Given the description of an element on the screen output the (x, y) to click on. 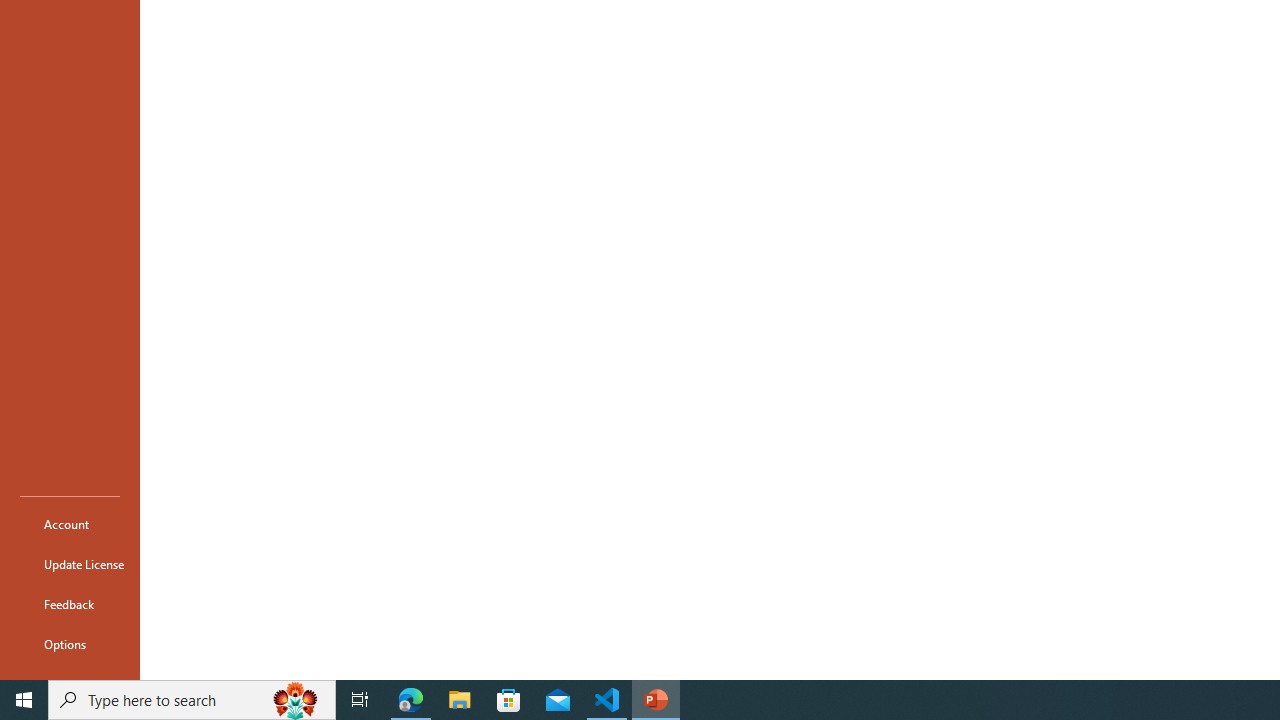
Options (69, 643)
Account (69, 523)
Feedback (69, 603)
Update License (69, 563)
